Given the description of an element on the screen output the (x, y) to click on. 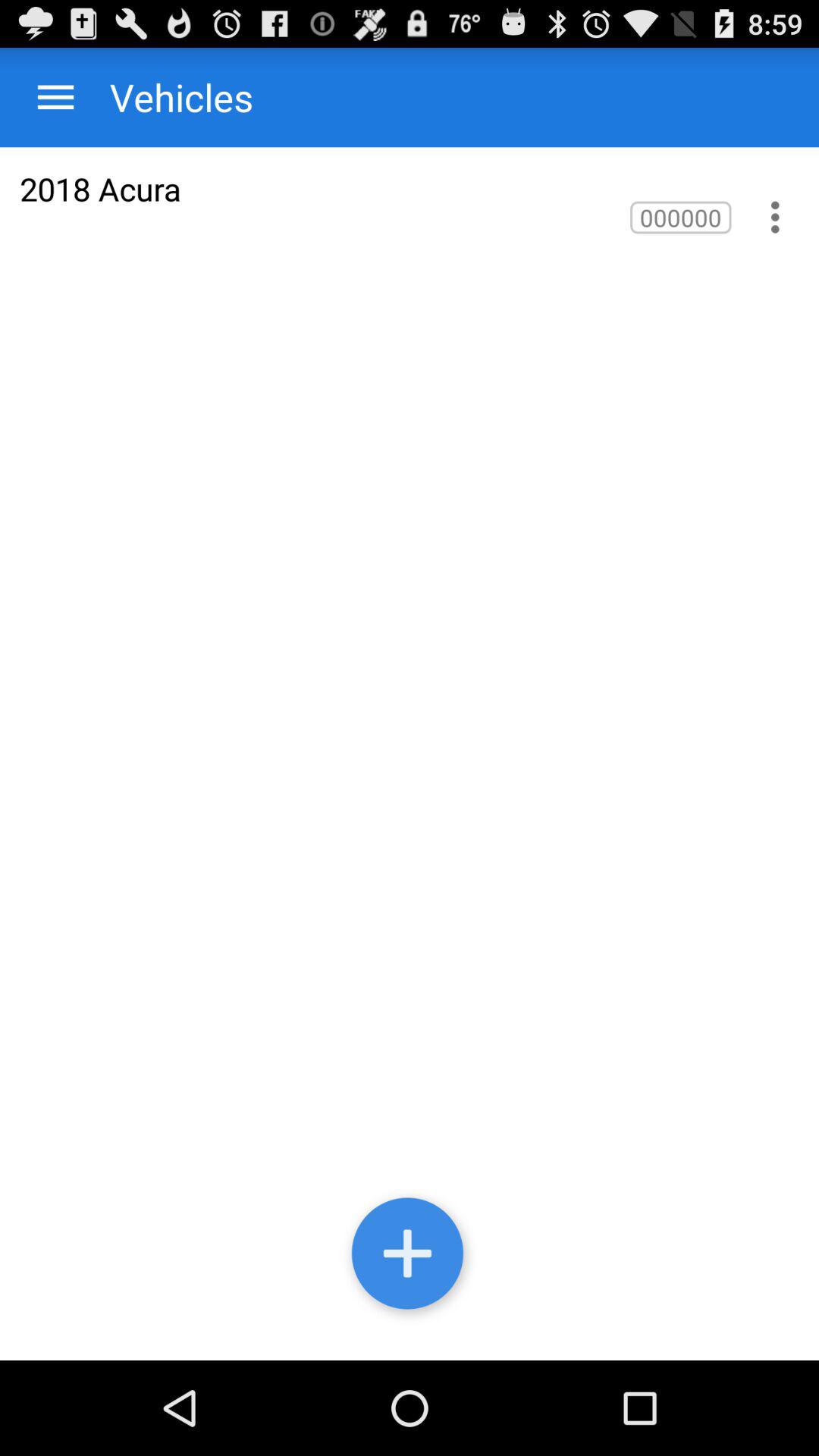
open menu (55, 97)
